Given the description of an element on the screen output the (x, y) to click on. 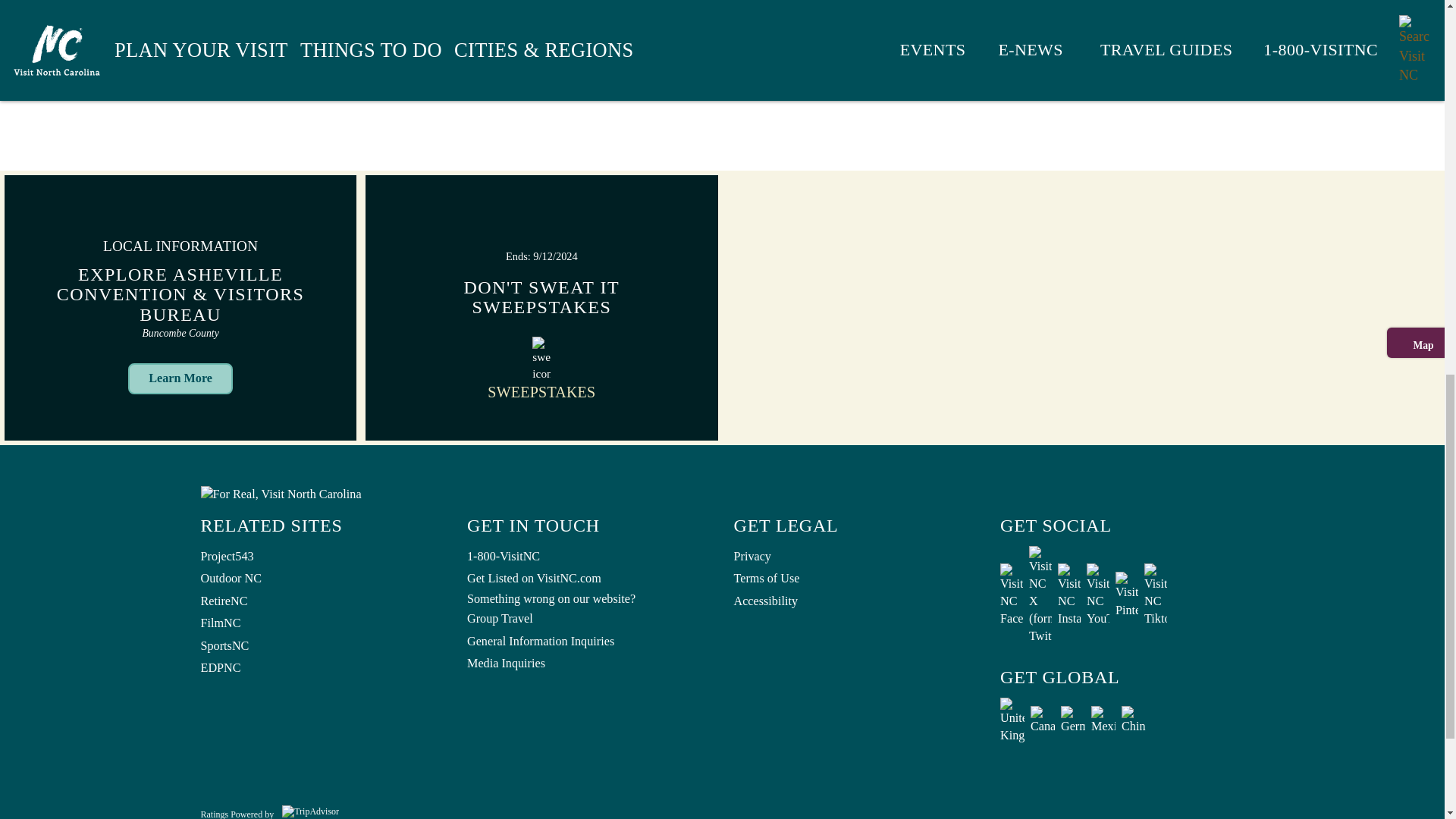
SportsNC (322, 646)
Get Listed on VisitNC.com (589, 579)
FilmNC (322, 623)
Group Travel (589, 619)
General Information Inquiries (589, 640)
Outdoor NC (322, 579)
Learn More (180, 378)
Accessibility (855, 601)
www.marriott.com (796, 1)
Something wrong on our website? (589, 599)
